Given the description of an element on the screen output the (x, y) to click on. 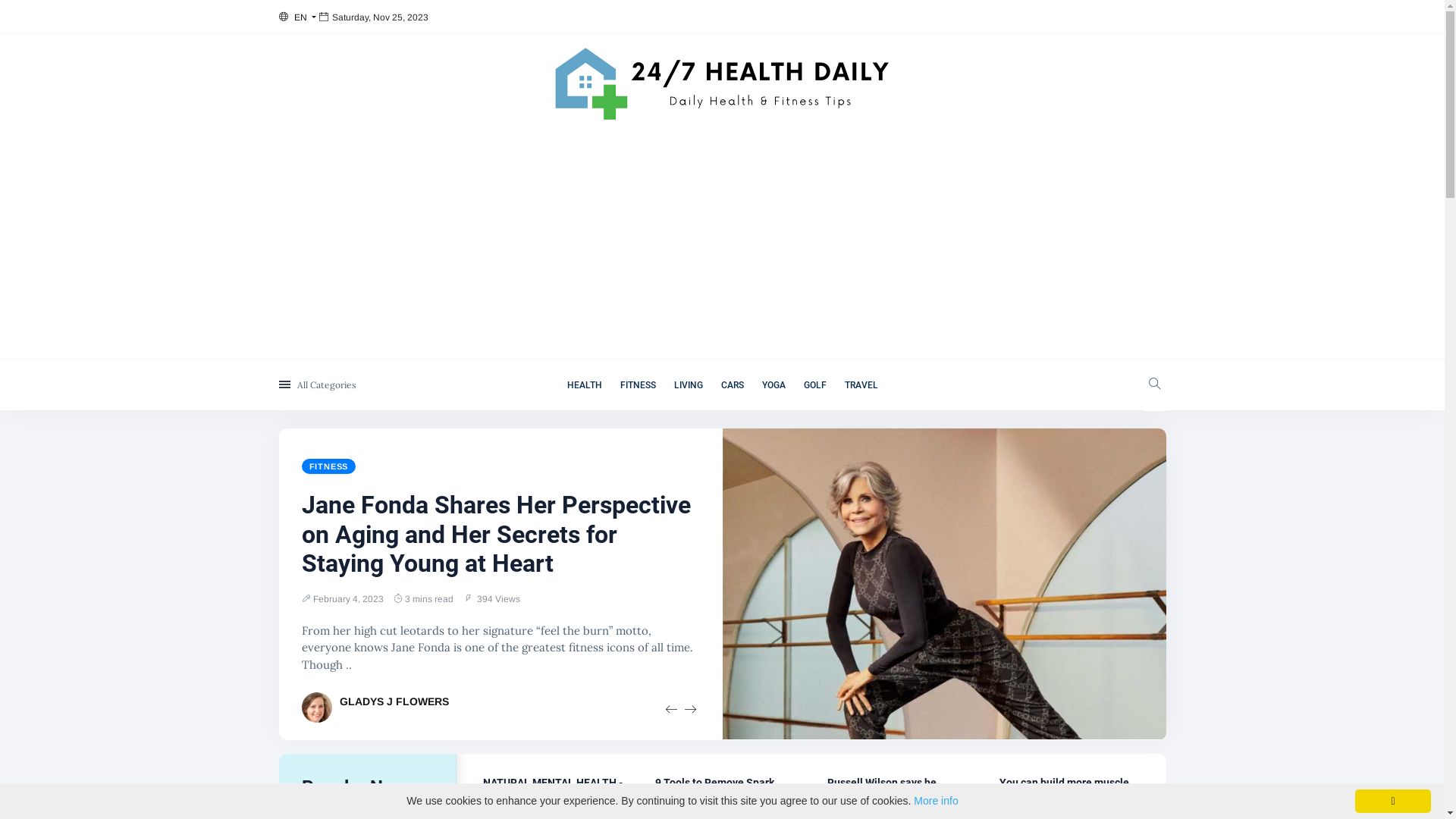
You can build more muscle with this 6 move dumbbell workout. Element type: text (1065, 795)
More info Element type: text (935, 800)
9 Tools to Remove Spark Plugs Element type: text (714, 788)
Advertisement Element type: hover (721, 244)
FITNESS Element type: text (328, 464)
GLADYS J FLOWERS Element type: text (393, 700)
NATURAL MENTAL HEALTH - The Power of Stillness Element type: text (551, 788)
TRAVEL Element type: text (861, 385)
EN Element type: text (297, 17)
YOGA Element type: text (772, 385)
LIVING Element type: text (687, 385)
CARS Element type: text (731, 385)
HEALTH Element type: text (584, 385)
FITNESS Element type: text (638, 385)
GOLF Element type: text (814, 385)
